Given the description of an element on the screen output the (x, y) to click on. 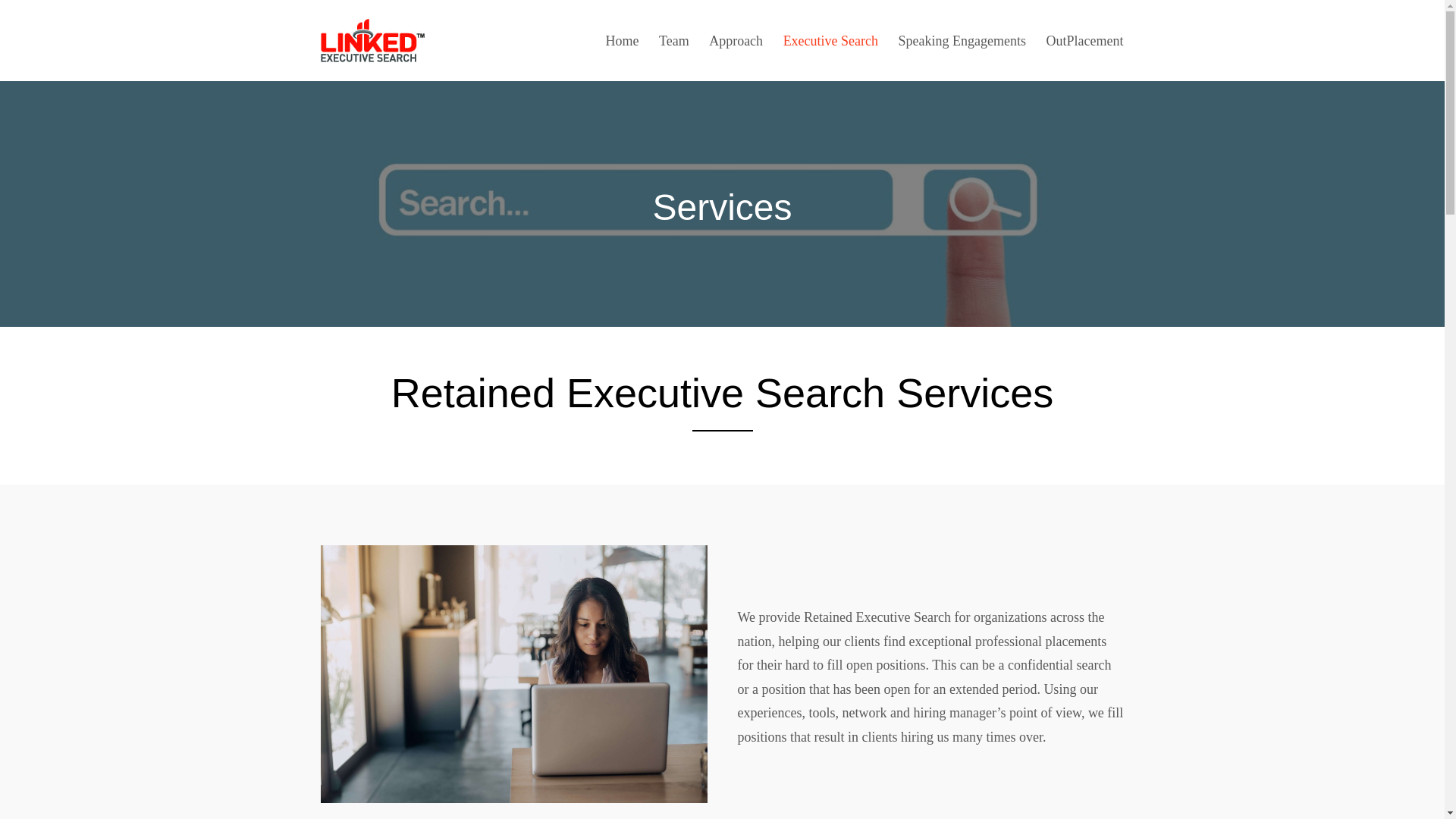
Executive Search (825, 40)
Home (616, 40)
OutPlacement (1079, 40)
Approach (729, 40)
Team (668, 40)
Speaking Engagements (956, 40)
